Given the description of an element on the screen output the (x, y) to click on. 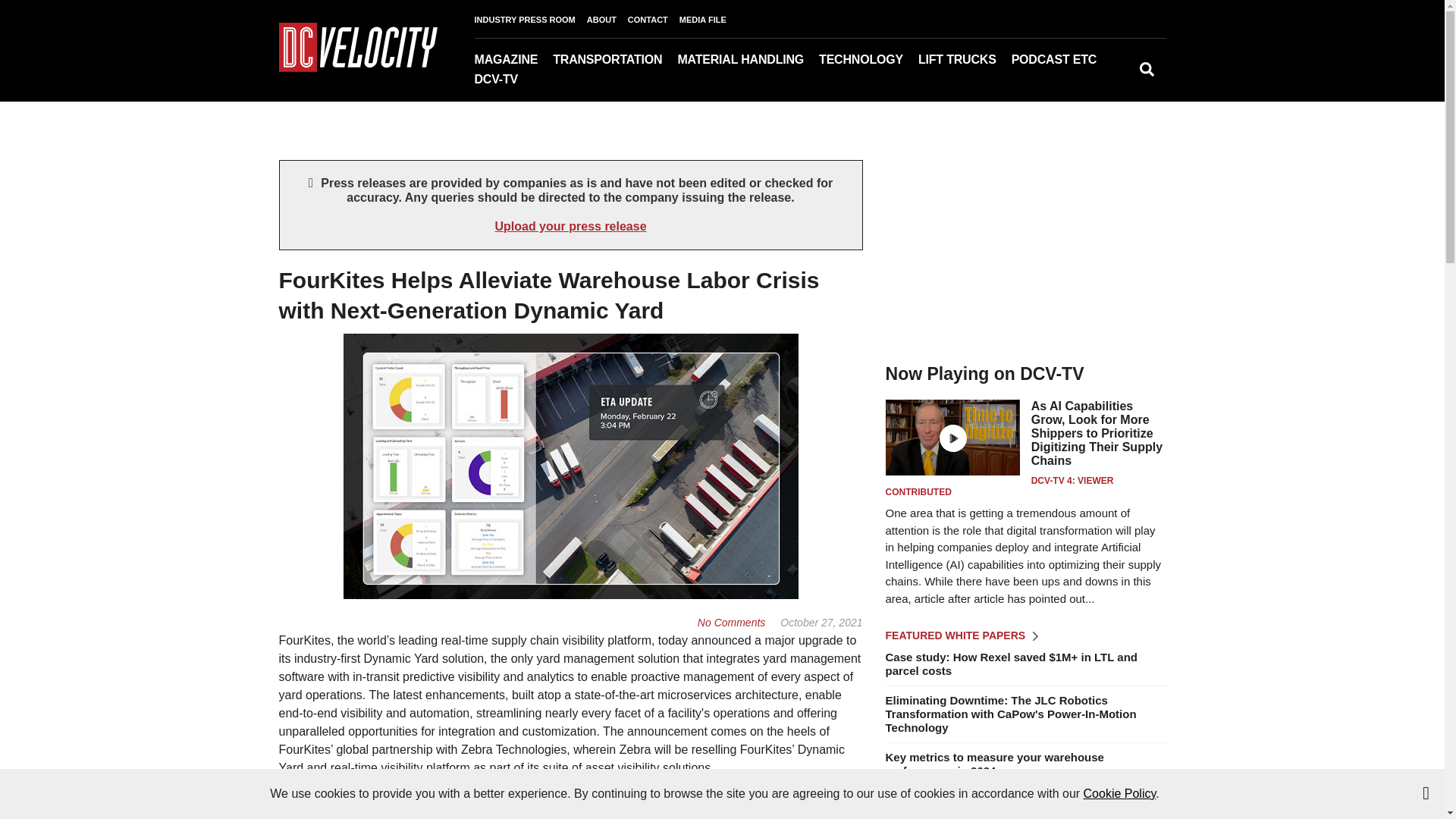
Webcasts (1093, 81)
Archives (555, 81)
MEDIA FILE (708, 19)
Current Issue (550, 81)
INDUSTRY PRESS ROOM (530, 19)
Cookie Policy (1119, 793)
MAGAZINE (513, 59)
ABOUT (606, 19)
CONTACT (653, 19)
Conference Guides (1117, 81)
